Given the description of an element on the screen output the (x, y) to click on. 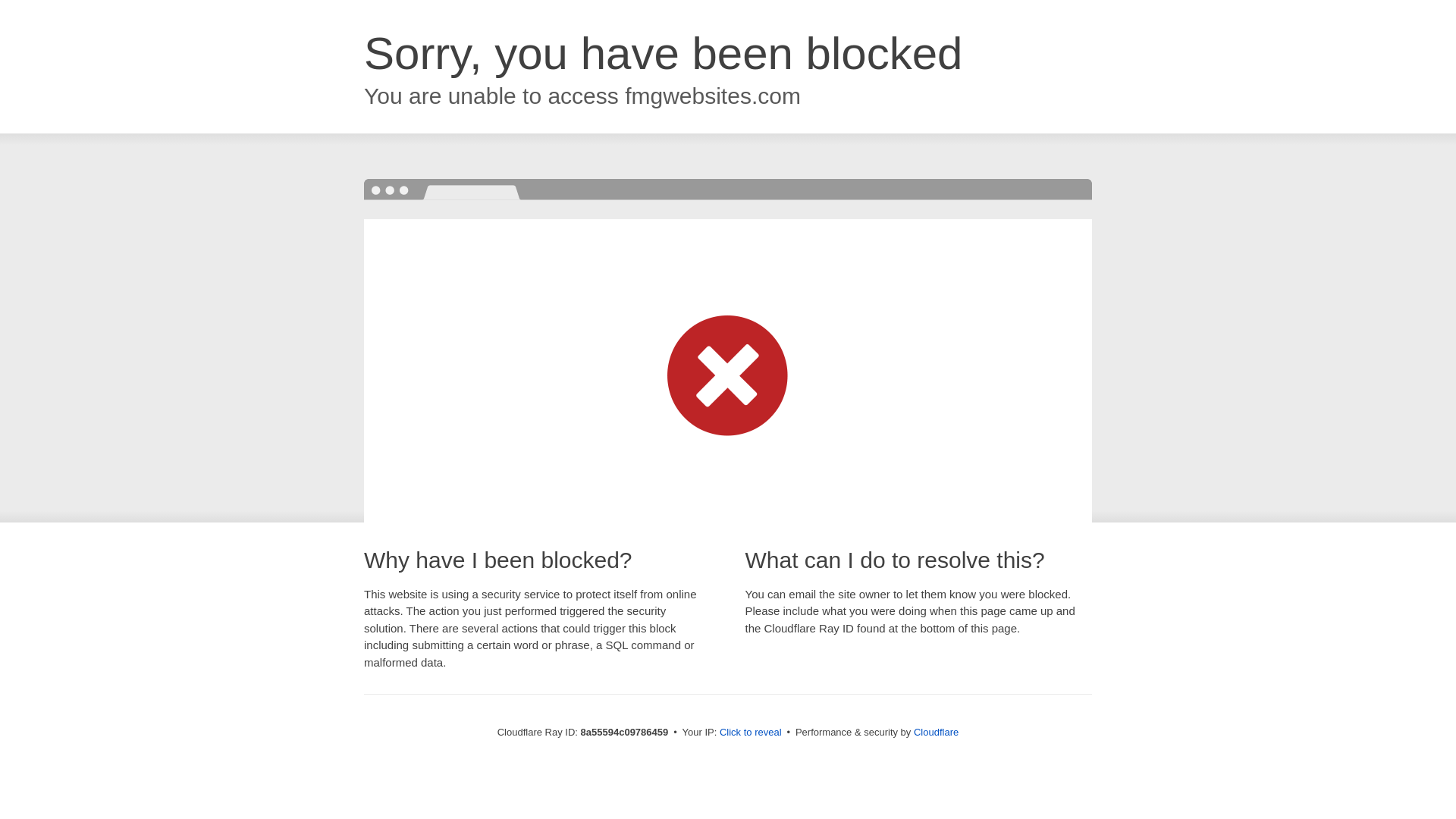
Cloudflare (936, 731)
Click to reveal (750, 732)
